Given the description of an element on the screen output the (x, y) to click on. 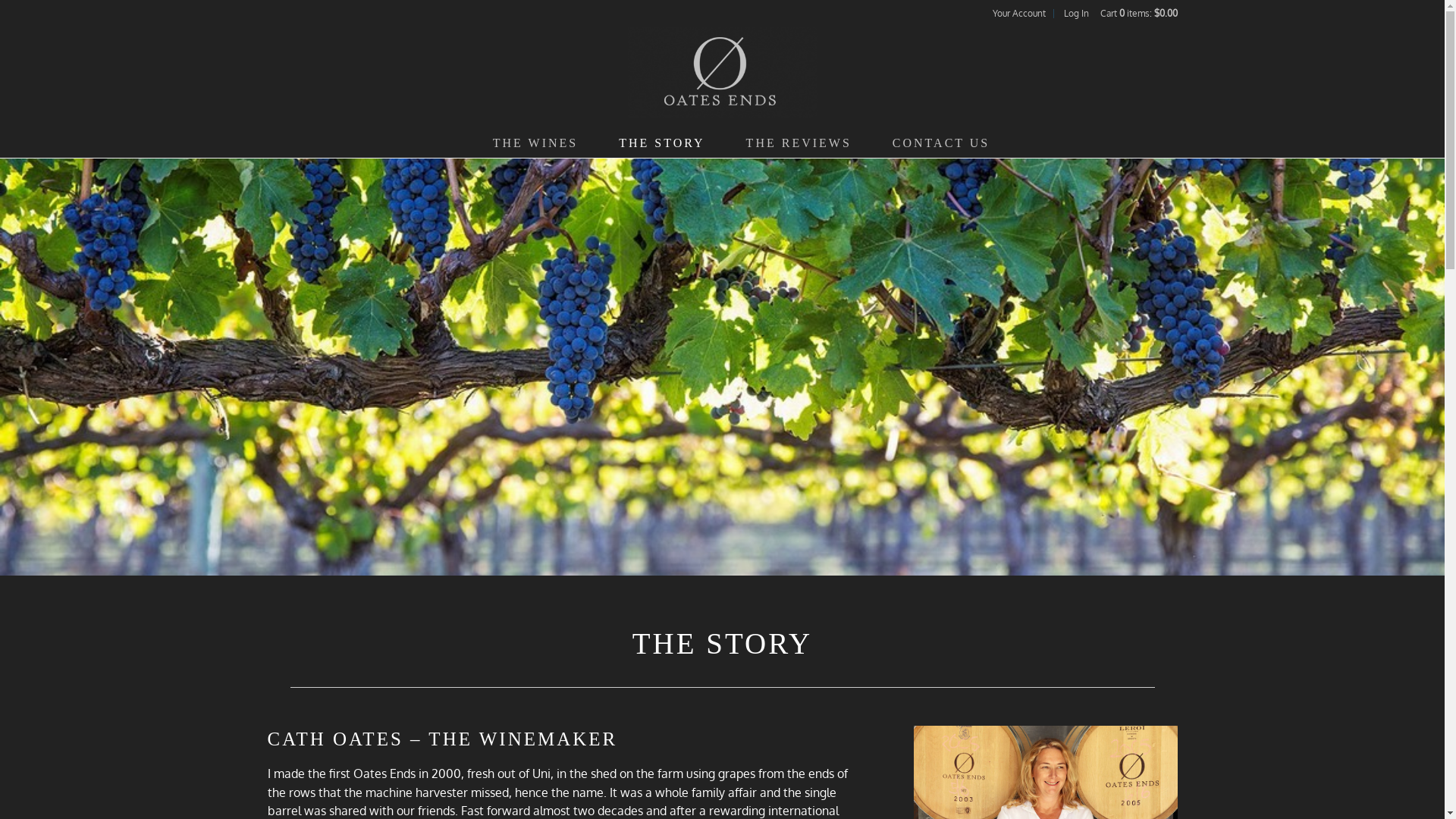
Log In Element type: text (1075, 12)
THE WINES Element type: text (534, 142)
THE STORY Element type: text (661, 142)
CONTACT US Element type: text (940, 142)
THE REVIEWS Element type: text (798, 142)
Cart 0 items: $0.00 Element type: text (1137, 12)
Your Account Element type: text (1017, 12)
